Given the description of an element on the screen output the (x, y) to click on. 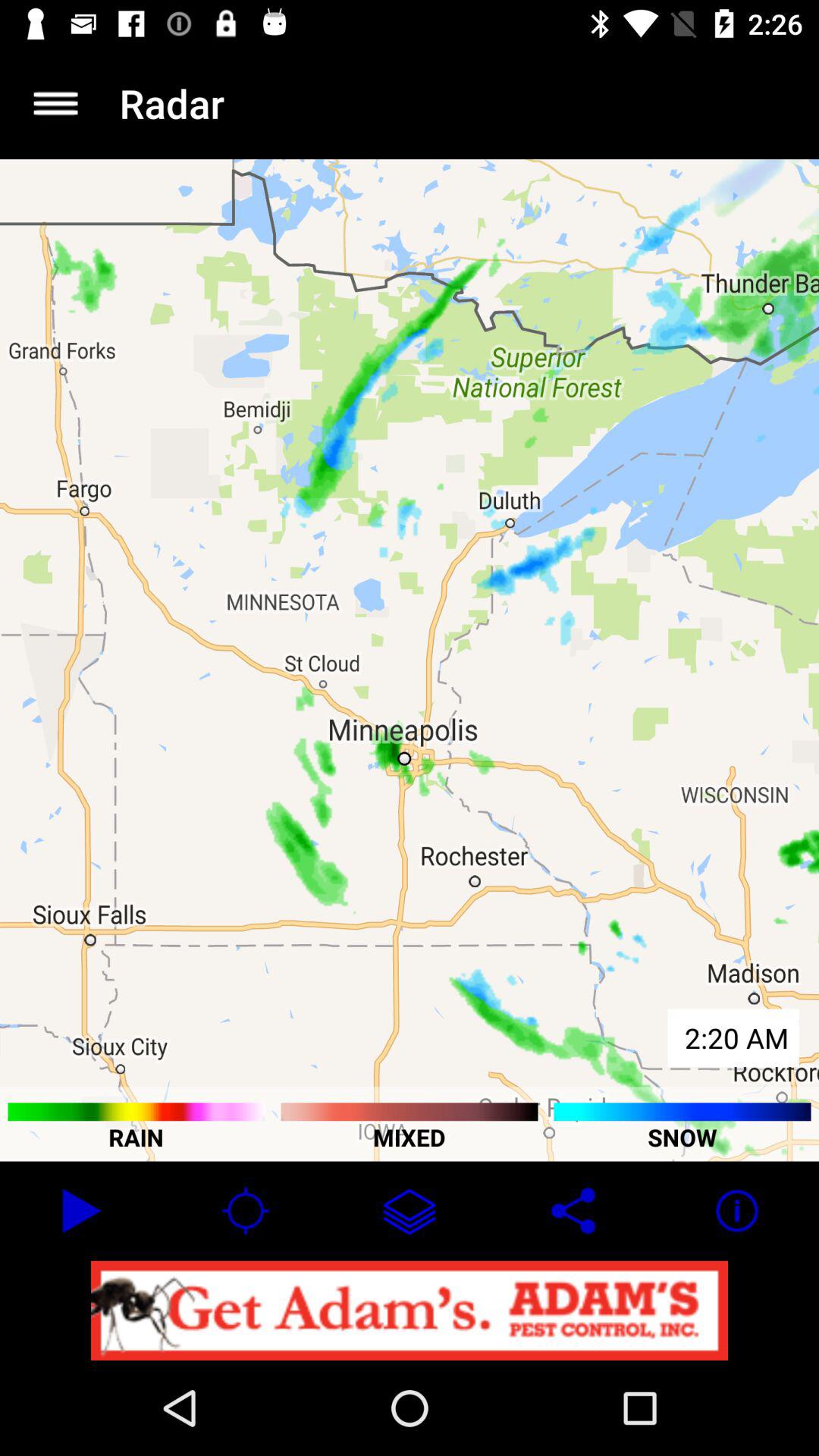
open options menu (55, 103)
